Given the description of an element on the screen output the (x, y) to click on. 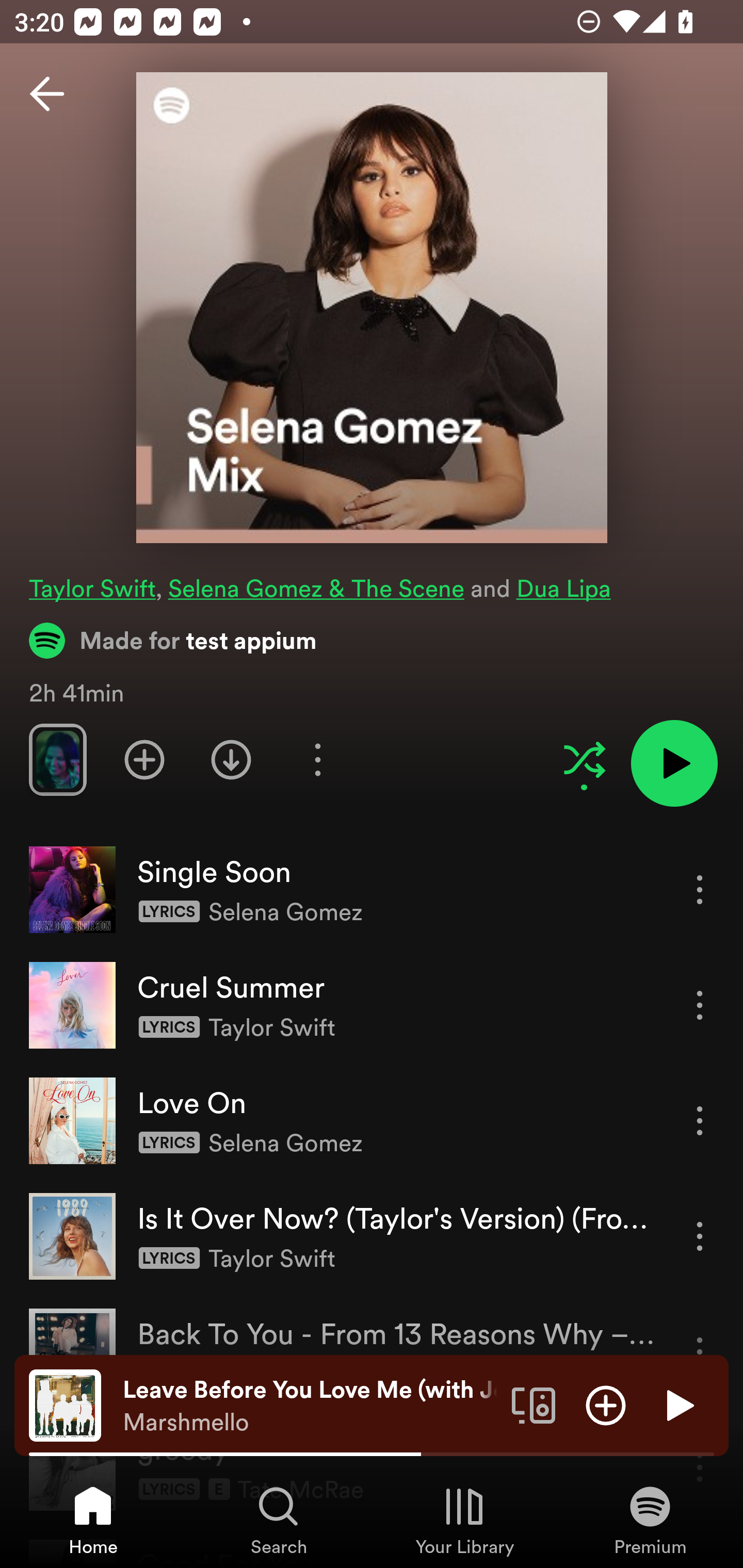
Back (46, 93)
Made for test appium (172, 640)
Add playlist to Your Library (144, 759)
Download (230, 759)
More options for playlist Selena Gomez Mix (317, 759)
Disable shuffle for this playlist (583, 759)
Play playlist (674, 763)
More options for song Single Soon (699, 889)
More options for song Cruel Summer (699, 1004)
More options for song Love On (699, 1120)
The cover art of the currently playing track (64, 1404)
Connect to a device. Opens the devices menu (533, 1404)
Add item (605, 1404)
Play (677, 1404)
Home, Tab 1 of 4 Home Home (92, 1519)
Search, Tab 2 of 4 Search Search (278, 1519)
Your Library, Tab 3 of 4 Your Library Your Library (464, 1519)
Premium, Tab 4 of 4 Premium Premium (650, 1519)
